Given the description of an element on the screen output the (x, y) to click on. 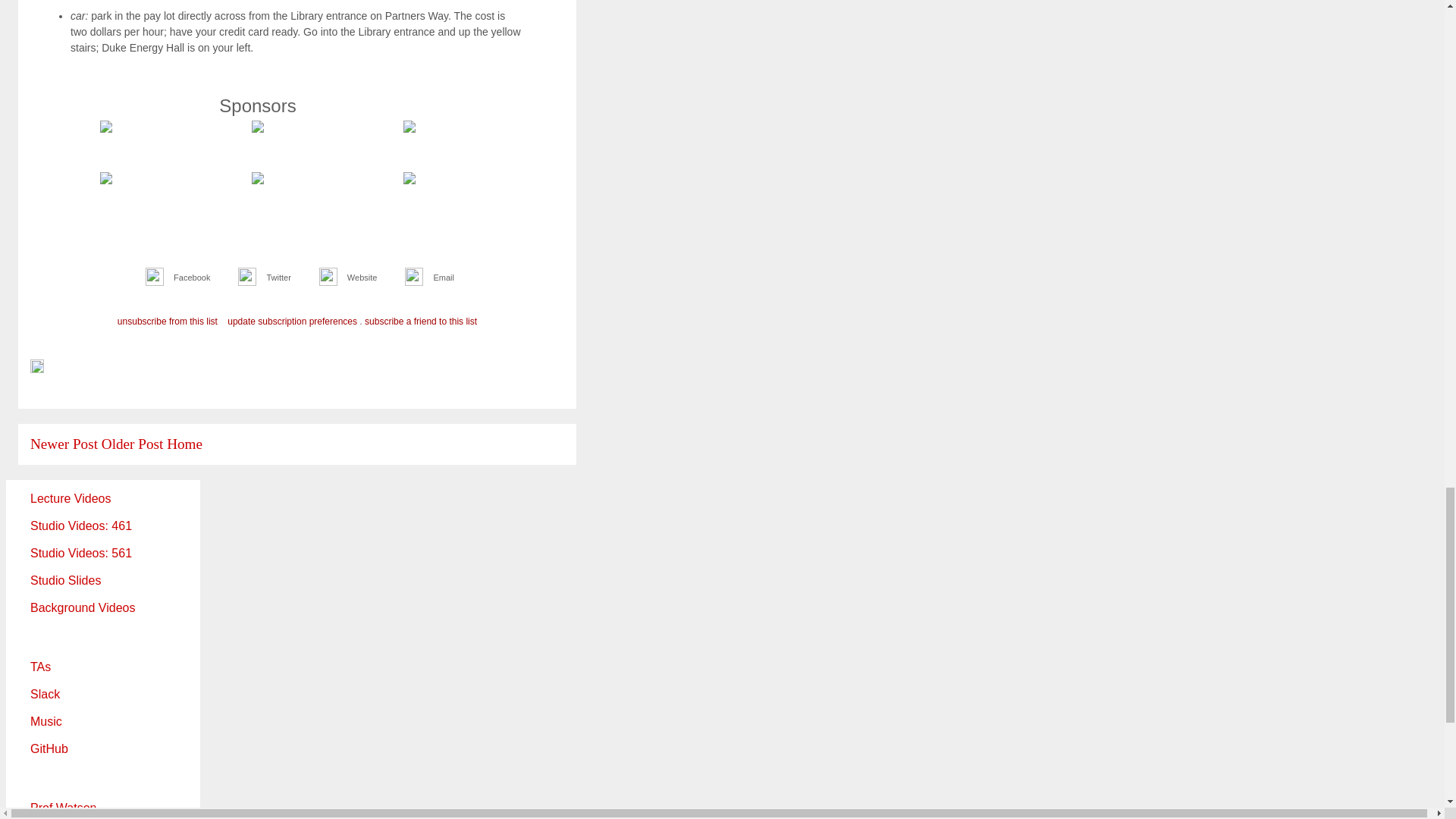
Twitter (277, 276)
Older Post (132, 443)
Email (443, 276)
Edit Post (36, 368)
Facebook (191, 276)
Website (362, 276)
Newer Post (63, 443)
